Given the description of an element on the screen output the (x, y) to click on. 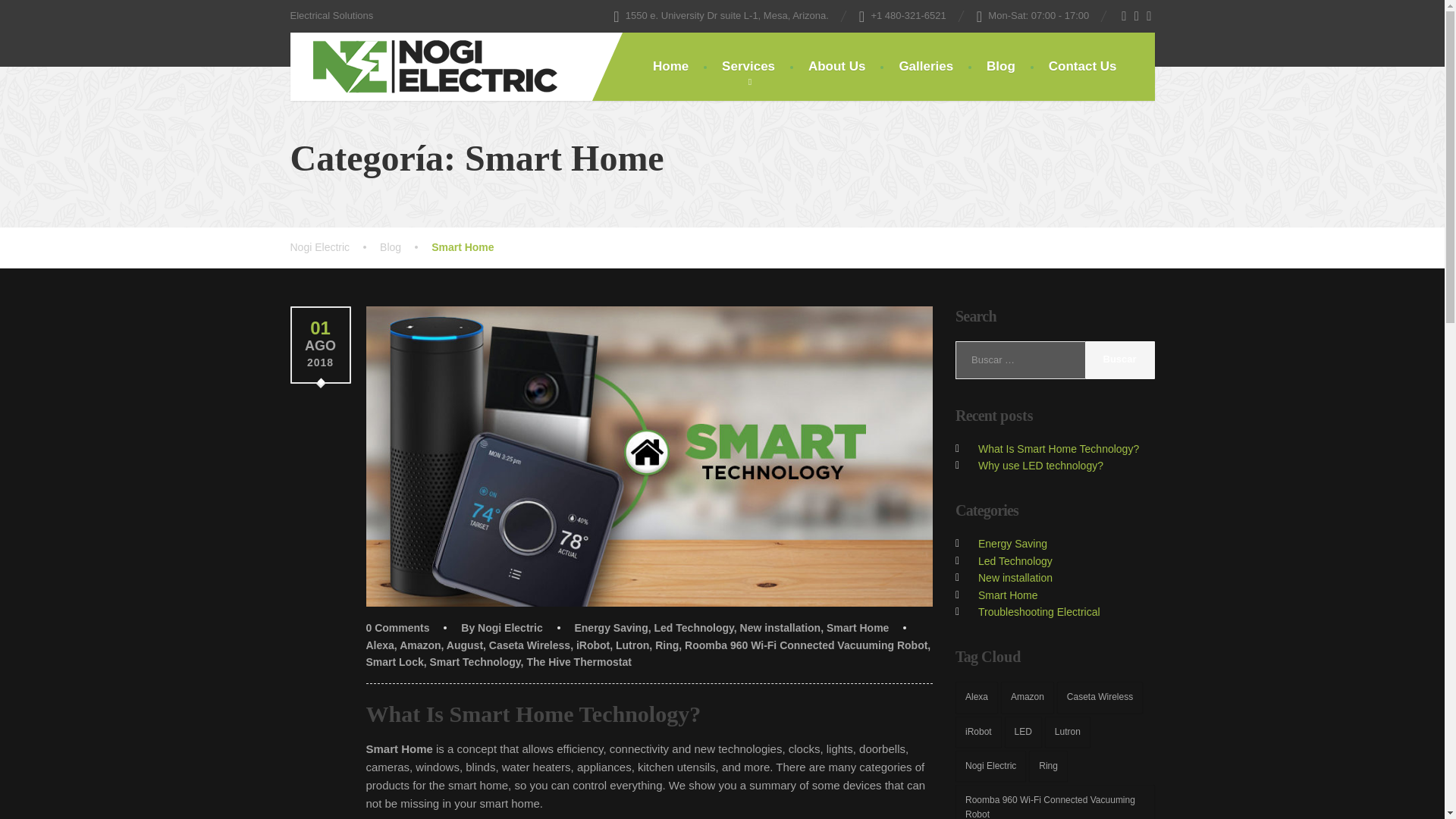
Galleries (925, 66)
0 Comments (397, 627)
Energy Saving (610, 627)
Contact Us (1082, 66)
iRobot (593, 645)
Ir a Blog. (405, 246)
Blog (405, 246)
Alexa (379, 645)
Ir a Nogi Electric. (334, 246)
Led Technology (693, 627)
